Given the description of an element on the screen output the (x, y) to click on. 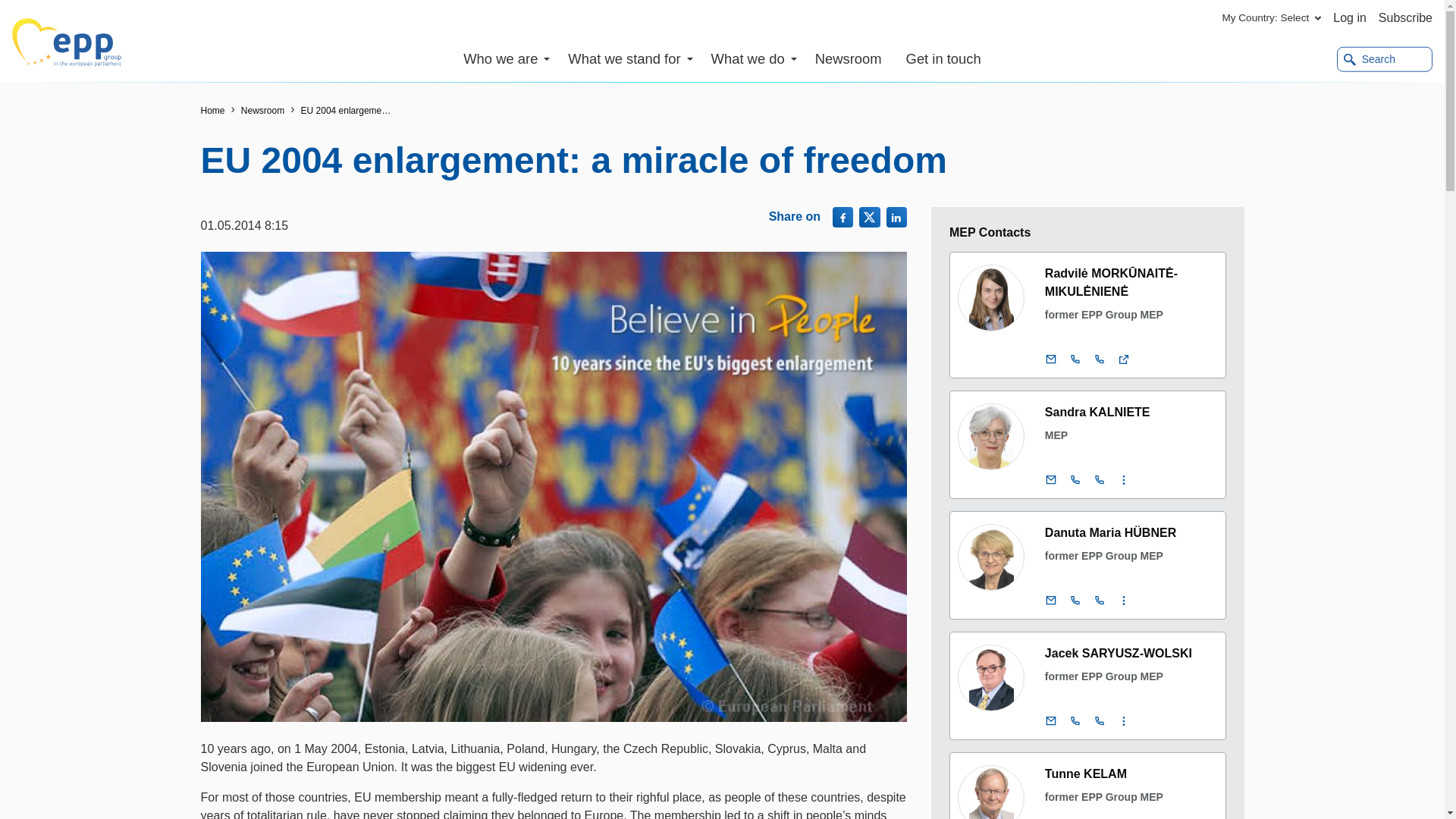
Who we are (512, 58)
Search page (1384, 59)
Log in (1350, 17)
Subscribe (1405, 17)
Log in (1350, 17)
What we stand for (633, 58)
Subscribe to receive our newsletters (1405, 17)
Share (842, 217)
Return to home (212, 110)
Return to newsroom (262, 110)
